Given the description of an element on the screen output the (x, y) to click on. 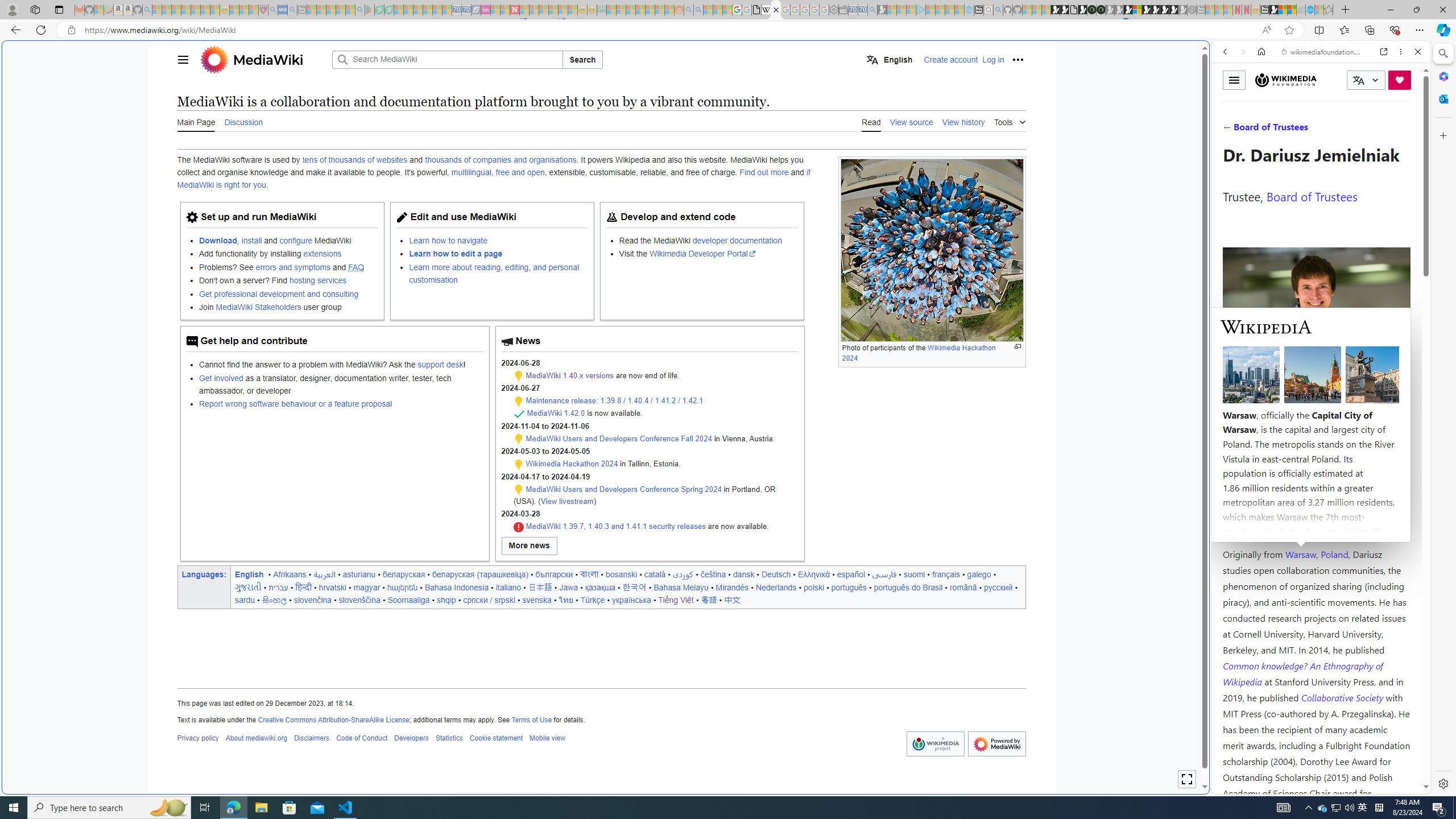
NCL Adult Asthma Inhaler Choice Guideline - Sleeping (282, 9)
VIDEOS (1300, 130)
Jawa (568, 587)
MSN (1118, 536)
Services - Maintenance | Sky Blue Bikes - Sky Blue Bikes (1309, 9)
View livestream (567, 500)
New tab - Sleeping (1200, 9)
Home | Sky Blue Bikes - Sky Blue Bikes - Sleeping (968, 9)
Read the MediaWiki developer documentation (707, 239)
